Given the description of an element on the screen output the (x, y) to click on. 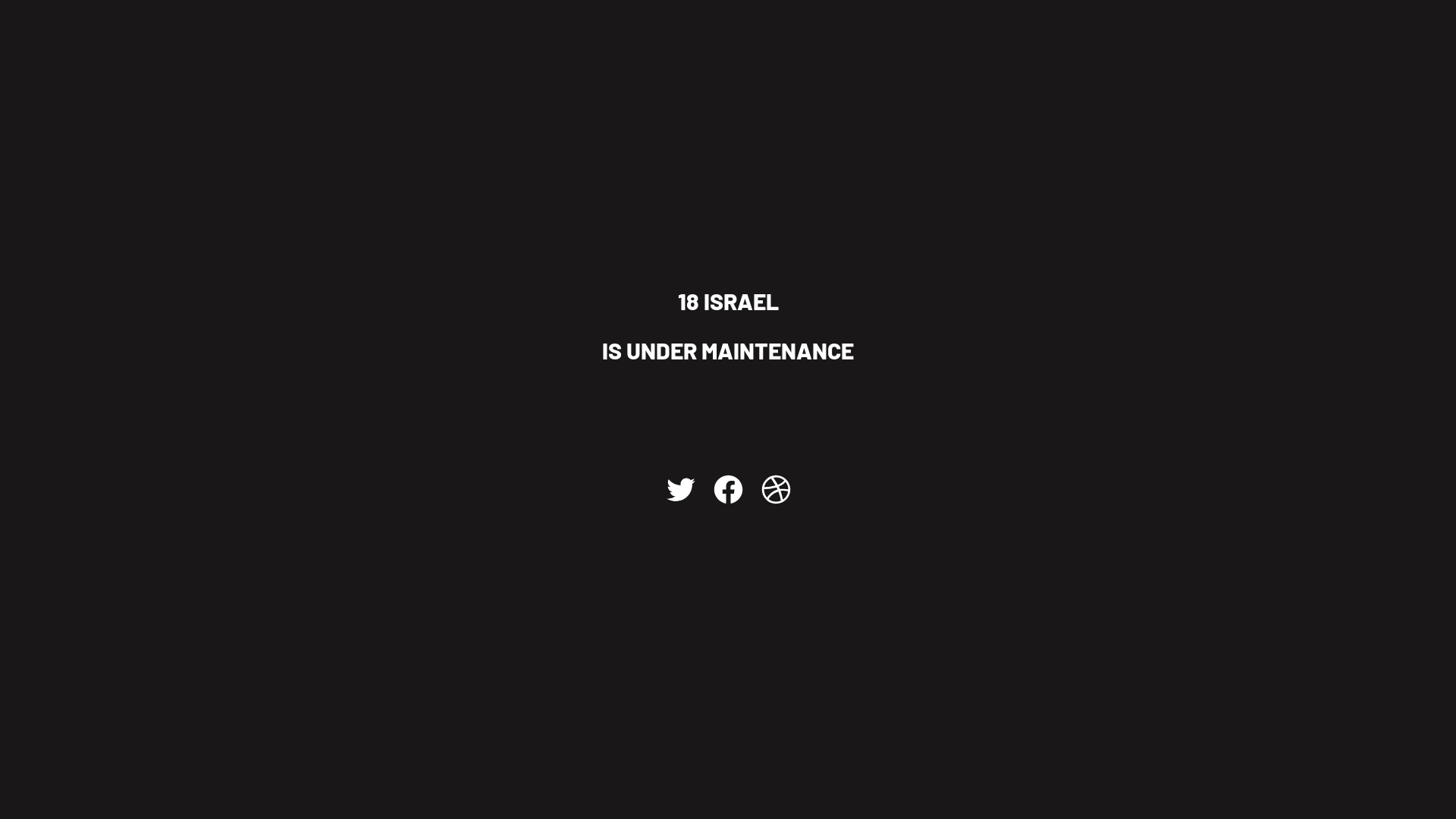
Twitter Element type: text (679, 488)
Dribbble Element type: text (775, 488)
Facebook Element type: text (728, 488)
